Given the description of an element on the screen output the (x, y) to click on. 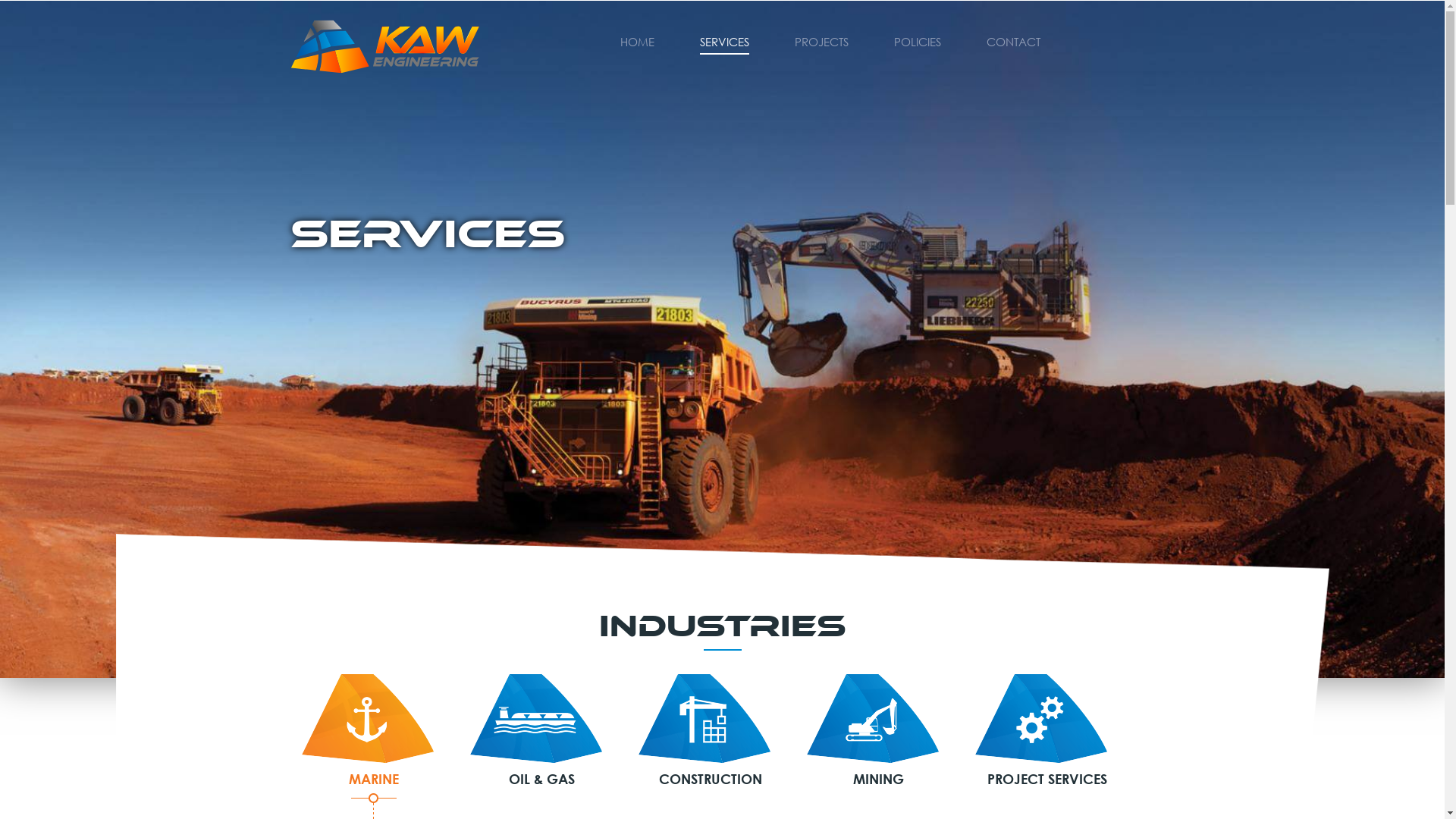
CONSTRUCTION Element type: text (710, 731)
MARINE Element type: text (373, 731)
PROJECTS Element type: text (821, 40)
SERVICES Element type: text (723, 40)
PROJECT SERVICES Element type: text (1047, 731)
HOME Element type: text (637, 40)
OIL & GAS Element type: text (542, 731)
CONTACT Element type: text (1012, 40)
MINING Element type: text (878, 731)
POLICIES Element type: text (916, 40)
